Given the description of an element on the screen output the (x, y) to click on. 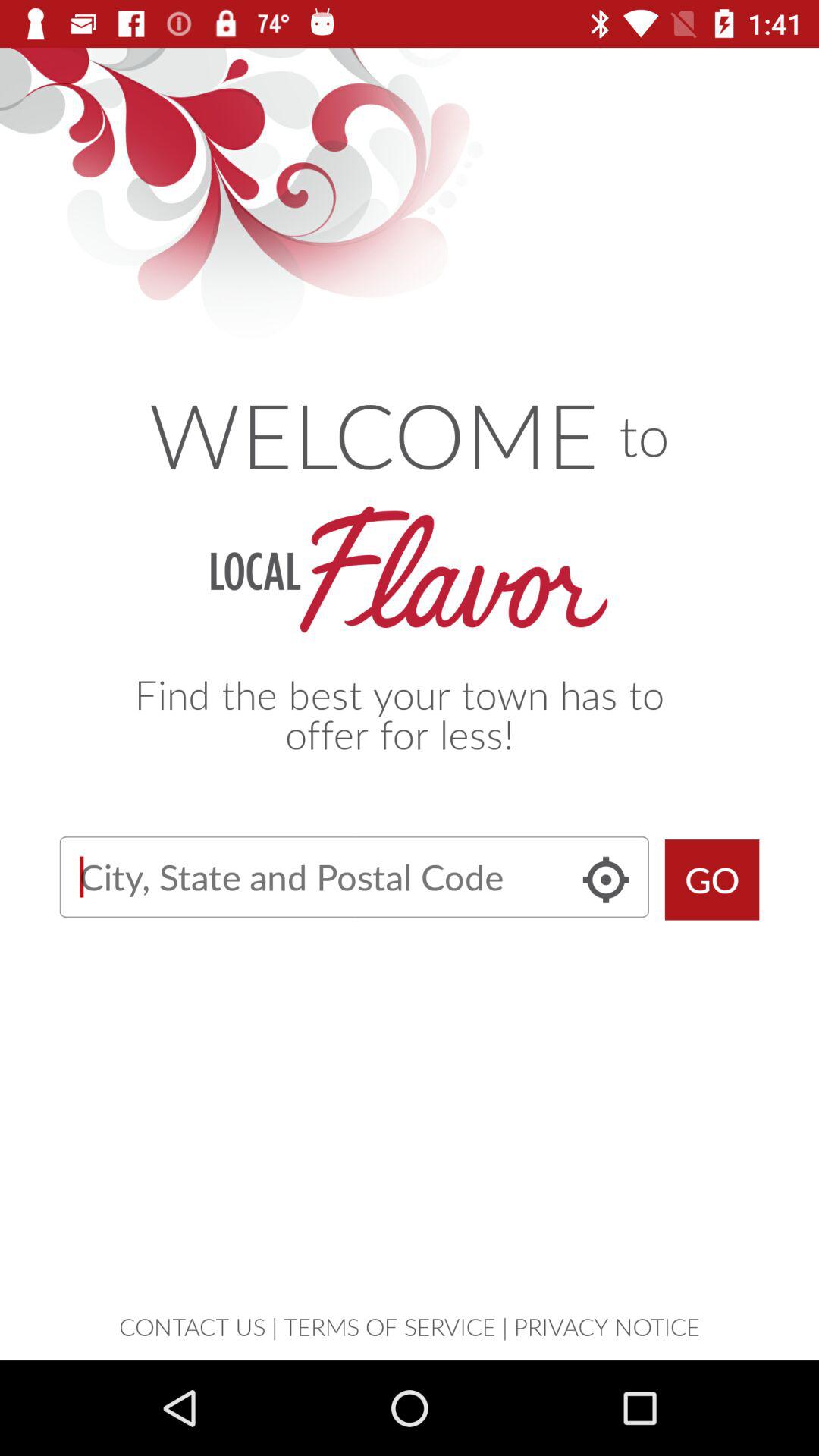
letter typing (353, 876)
